Given the description of an element on the screen output the (x, y) to click on. 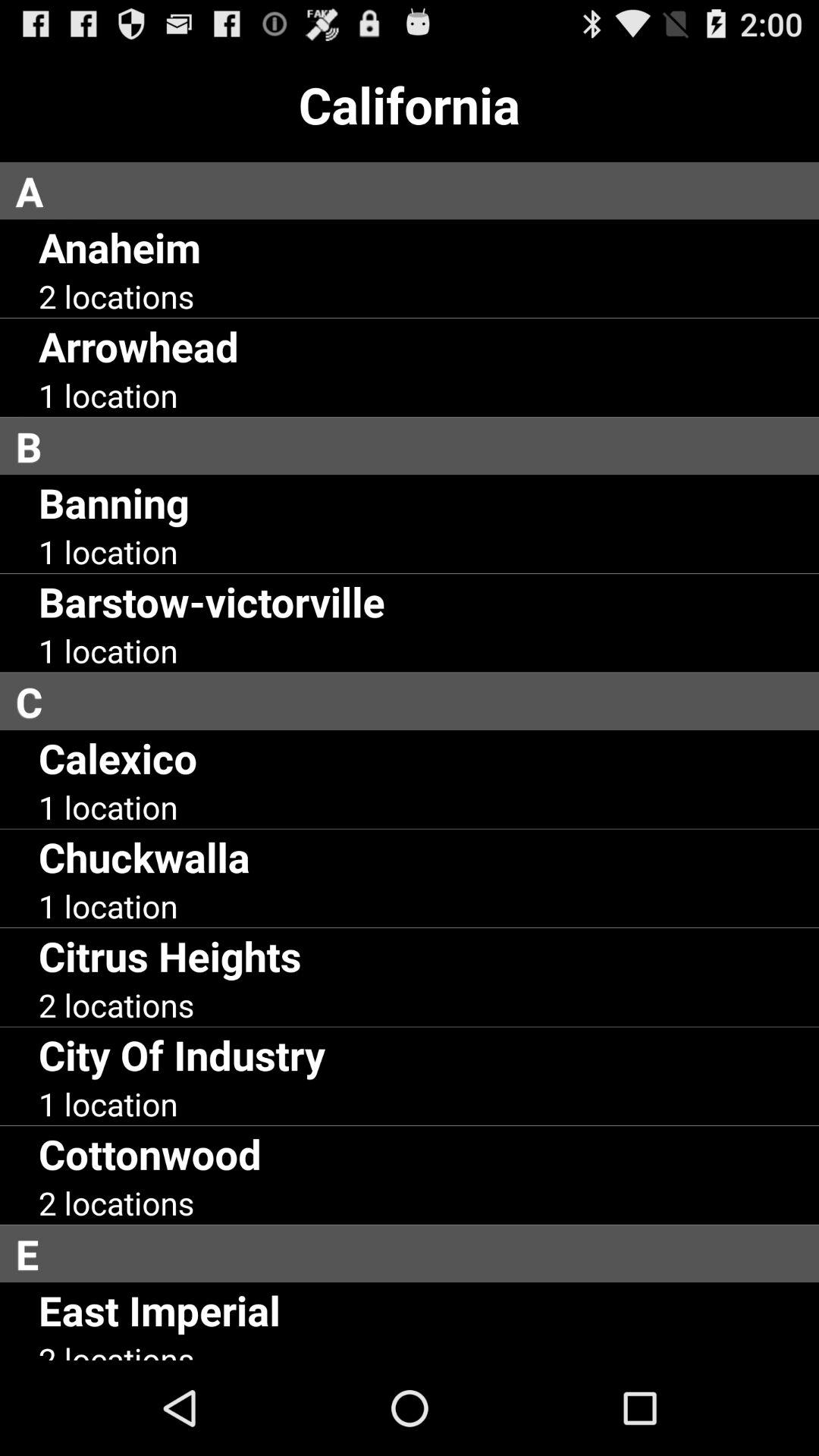
launch the city of industry icon (181, 1054)
